Given the description of an element on the screen output the (x, y) to click on. 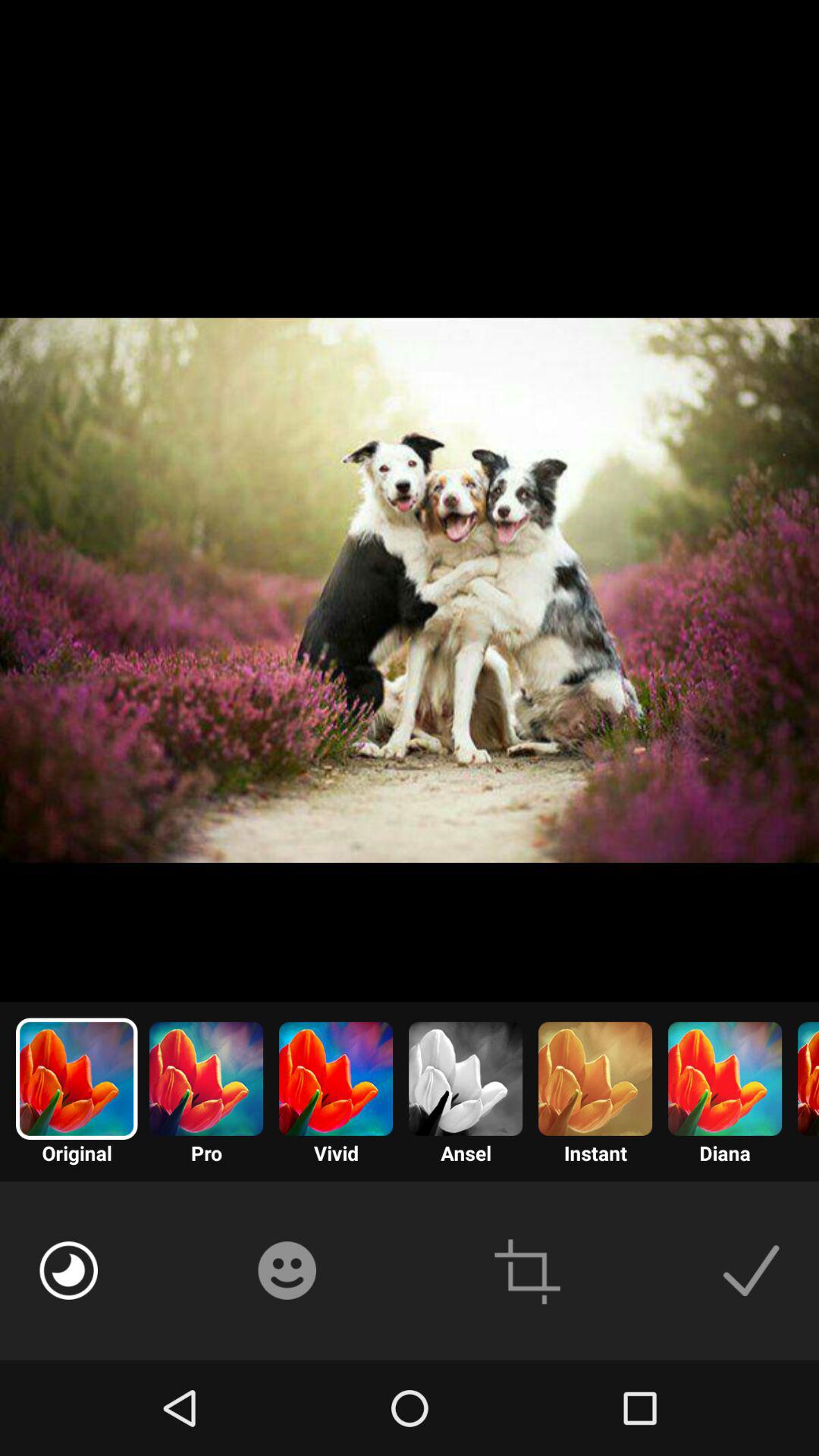
crop picture (527, 1270)
